Given the description of an element on the screen output the (x, y) to click on. 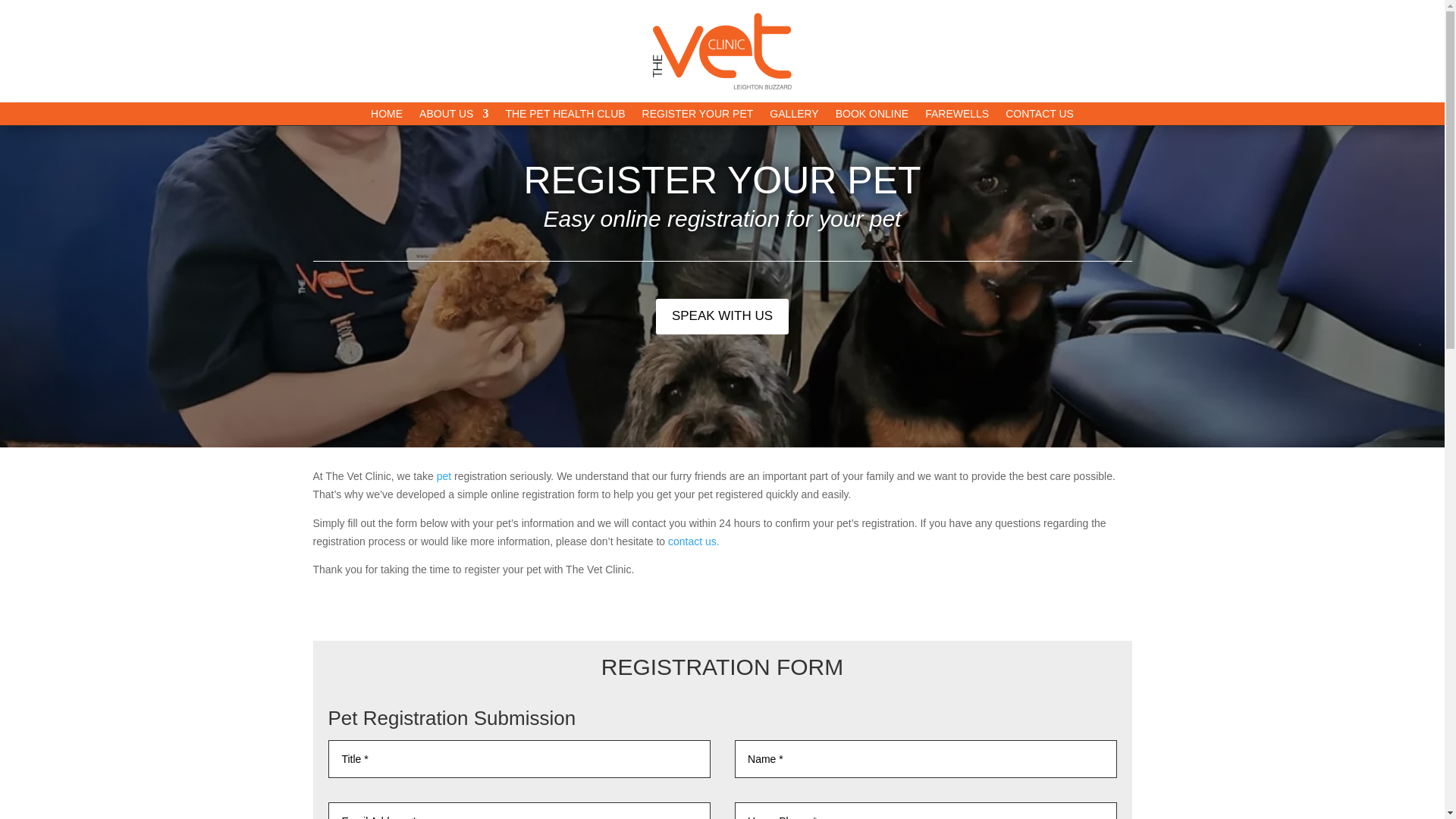
contact us. (693, 541)
BOOK ONLINE (871, 116)
SPEAK WITH US (722, 316)
CONTACT US (1040, 116)
ABOUT US (453, 116)
FAREWELLS (956, 116)
pet (443, 476)
logo (722, 51)
THE PET HEALTH CLUB (564, 116)
HOME (387, 116)
